Given the description of an element on the screen output the (x, y) to click on. 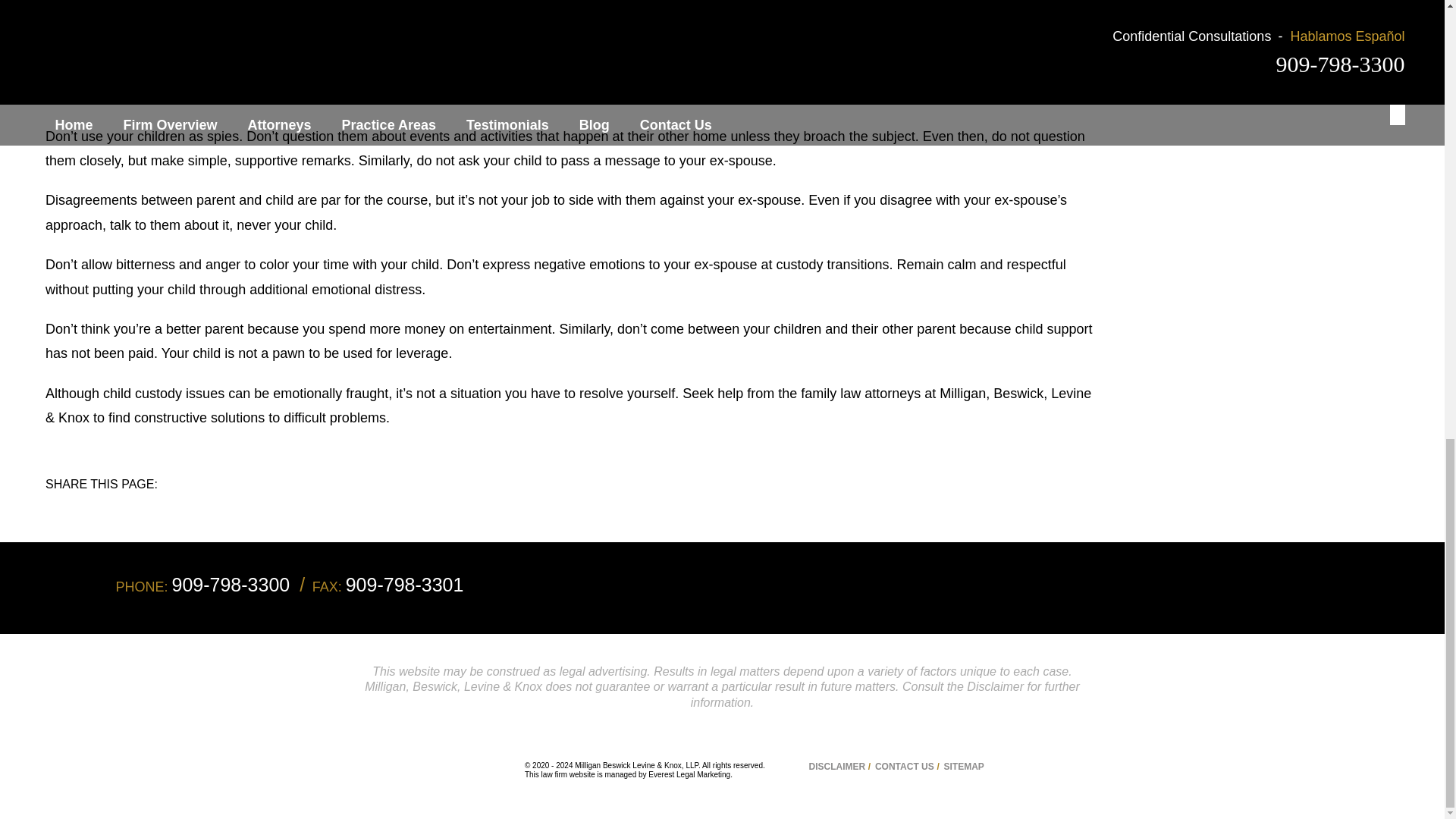
Facebook (192, 499)
Twitter (203, 499)
LinkedIn (214, 499)
